Given the description of an element on the screen output the (x, y) to click on. 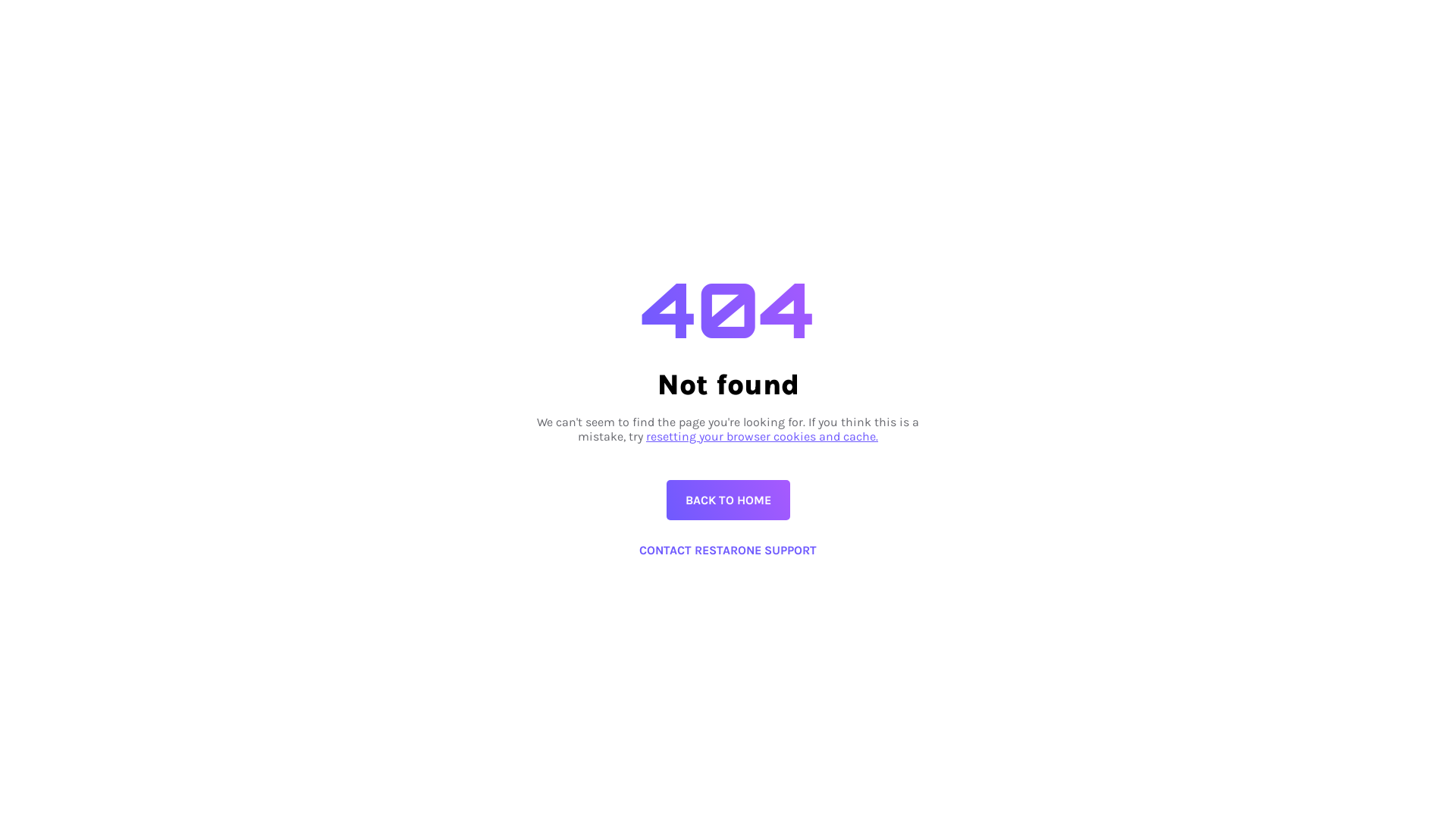
BACK TO HOME Element type: text (727, 500)
resetting your browser cookies and cache. Element type: text (762, 436)
CONTACT RESTARONE SUPPORT Element type: text (727, 549)
